Given the description of an element on the screen output the (x, y) to click on. 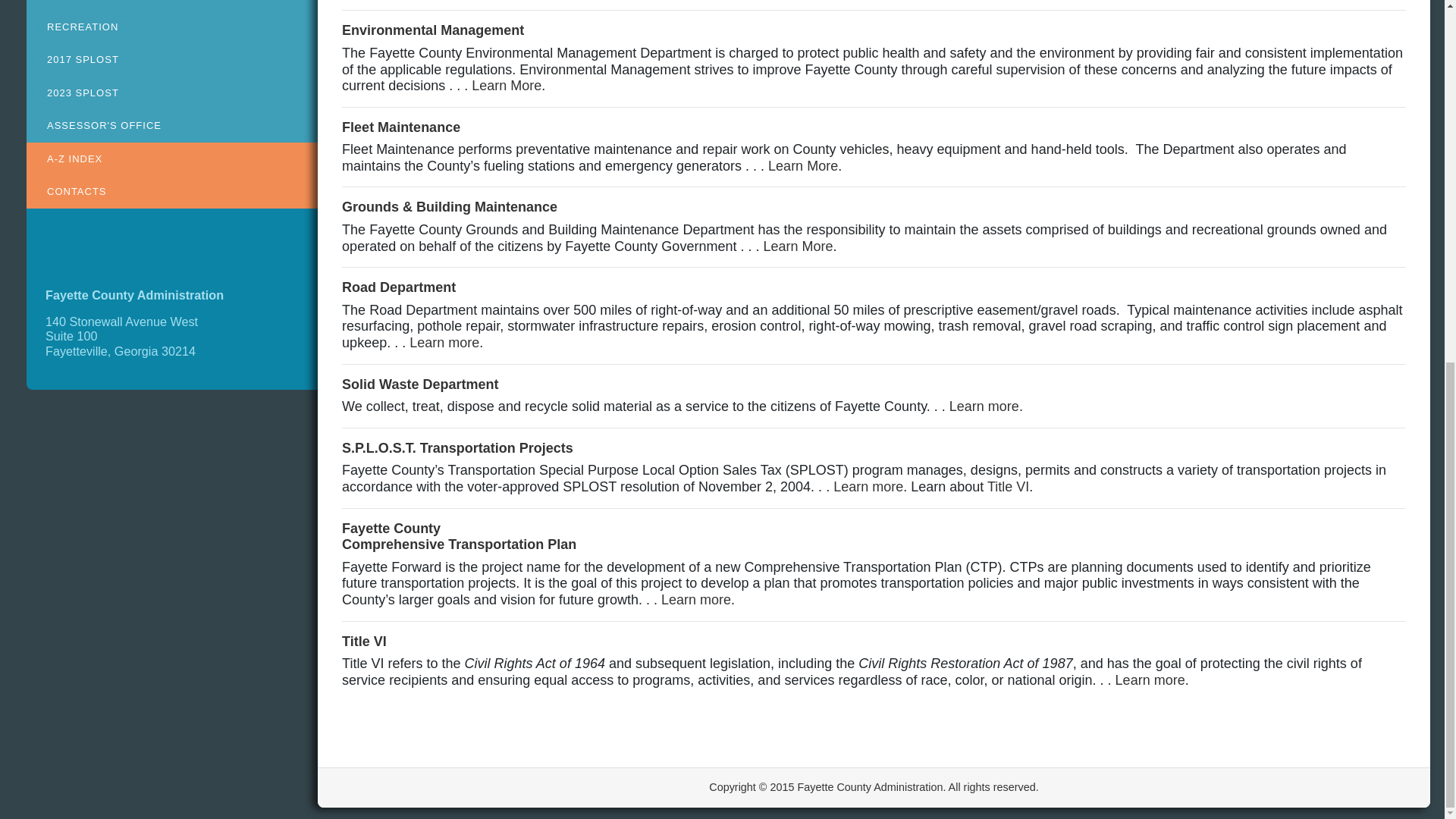
Learn More (797, 246)
Title VI (364, 641)
S.P.L.O.S.T. Transportation Projects (457, 447)
Learn more (867, 486)
Environmental Management (459, 536)
Learn more (433, 29)
Learn More (984, 406)
Fleet Maintenance (803, 165)
Learn More (401, 127)
Solid Waste Department (506, 85)
Learn more (419, 384)
Road Department (695, 599)
Learn more (398, 287)
Title VI (1150, 679)
